Given the description of an element on the screen output the (x, y) to click on. 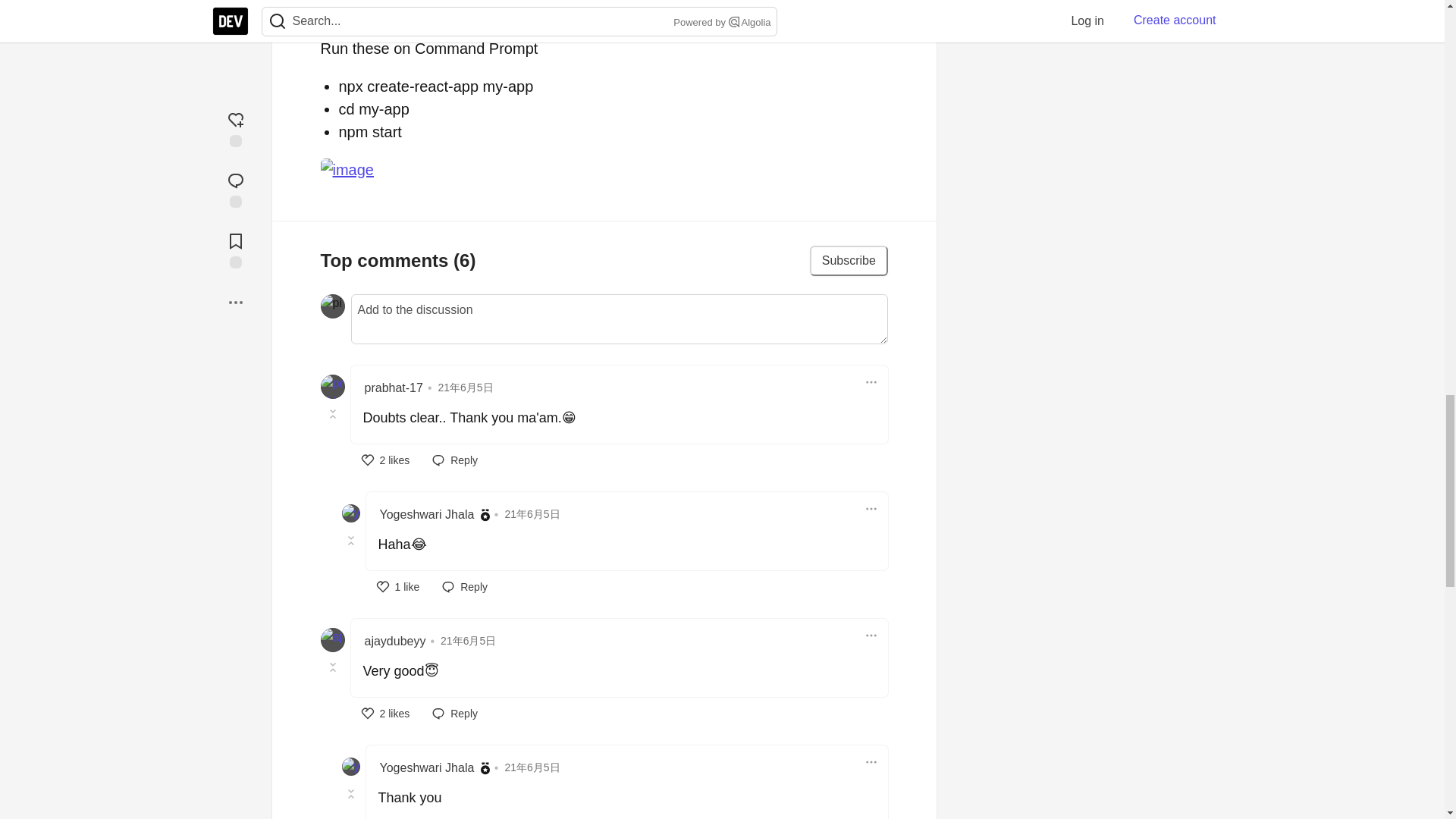
Dropdown menu (870, 508)
Dropdown menu (870, 635)
Dropdown menu (870, 382)
